Given the description of an element on the screen output the (x, y) to click on. 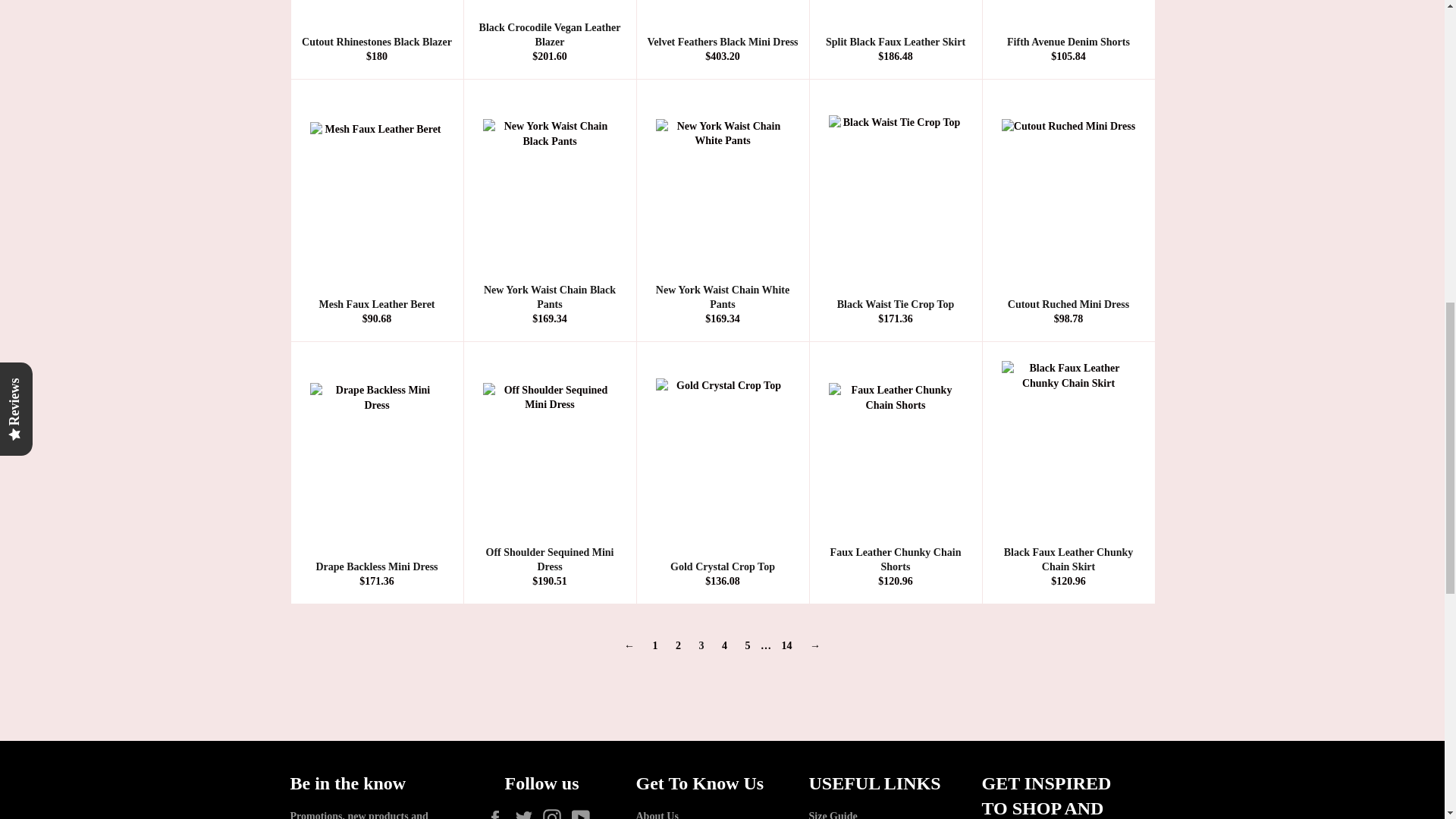
GENEW US on Facebook (499, 814)
GENEW US on YouTube (584, 814)
GENEW US on Instagram (556, 814)
GENEW US on Twitter (527, 814)
